Given the description of an element on the screen output the (x, y) to click on. 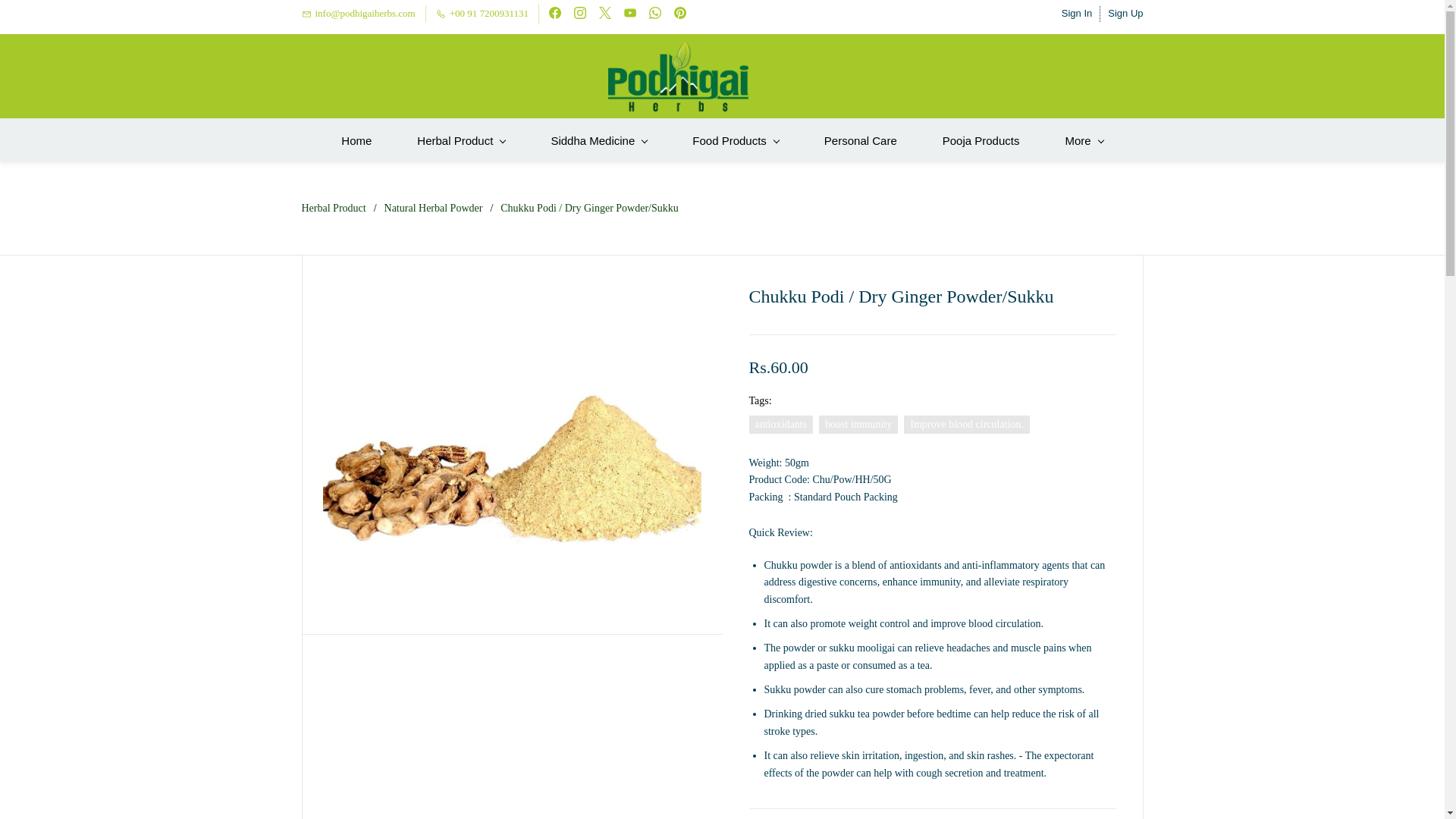
Herbal Product (460, 140)
Sign In (1076, 13)
Food Products (735, 140)
Sign Up (1125, 13)
Personal Care (860, 140)
Siddha Medicine (598, 140)
